Given the description of an element on the screen output the (x, y) to click on. 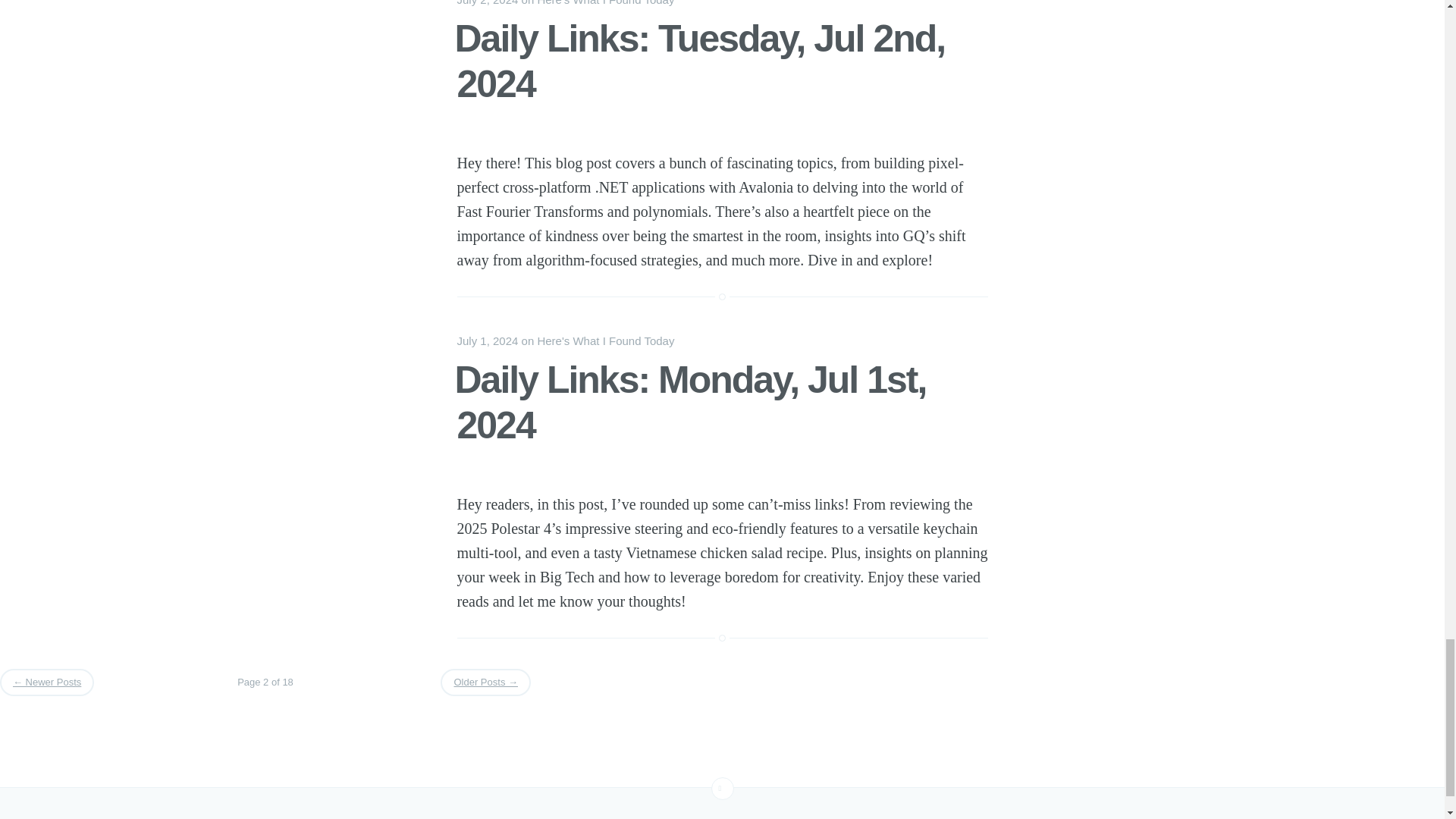
July 2, 2024 (487, 2)
